Given the description of an element on the screen output the (x, y) to click on. 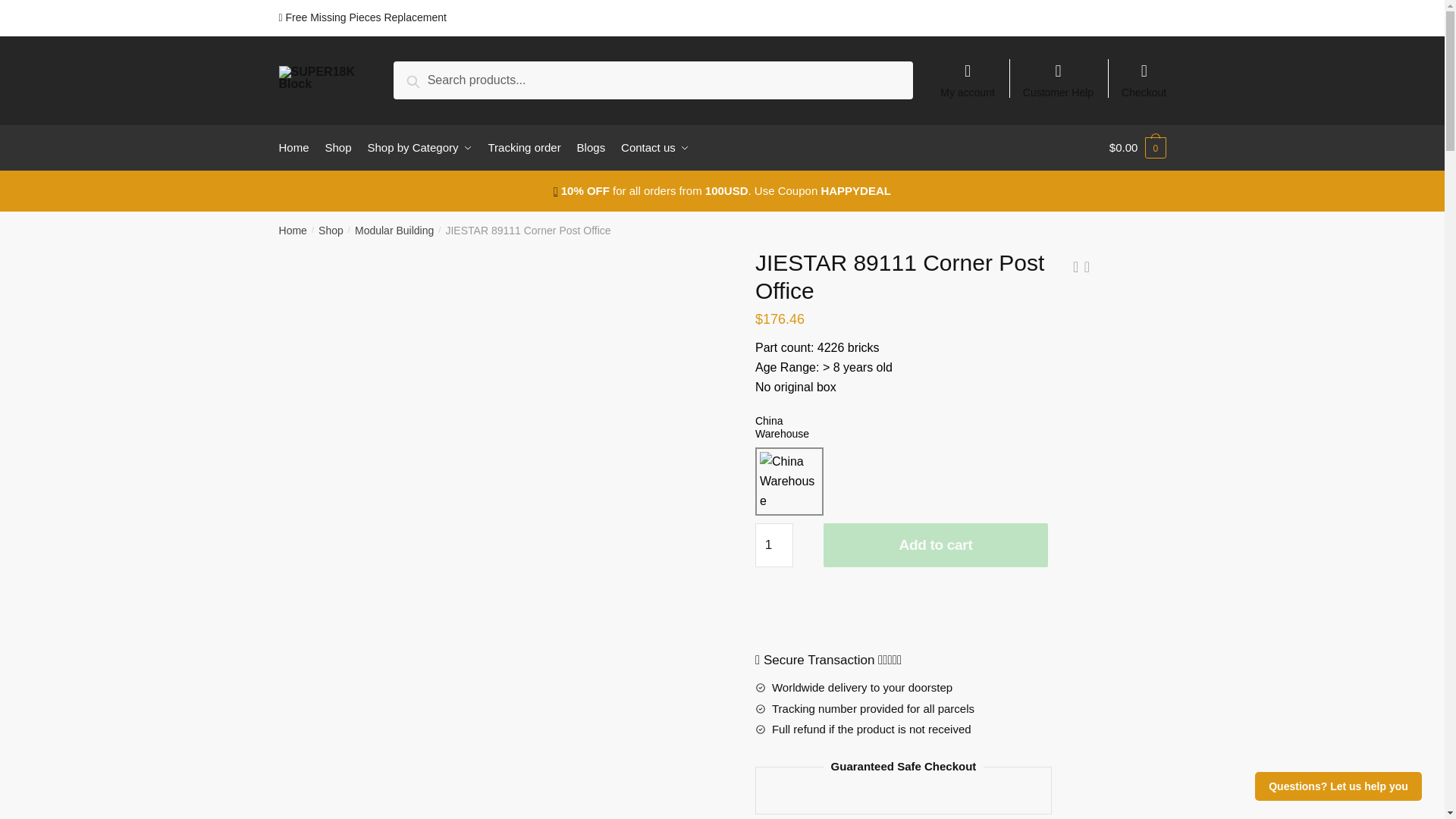
Checkout (1144, 73)
Shop by Category (419, 147)
My account (967, 73)
Search (430, 78)
Customer Help (1058, 73)
Shop (338, 147)
Blogs (590, 147)
View your shopping cart (1137, 147)
Tracking order (524, 147)
Contact us (653, 147)
